Given the description of an element on the screen output the (x, y) to click on. 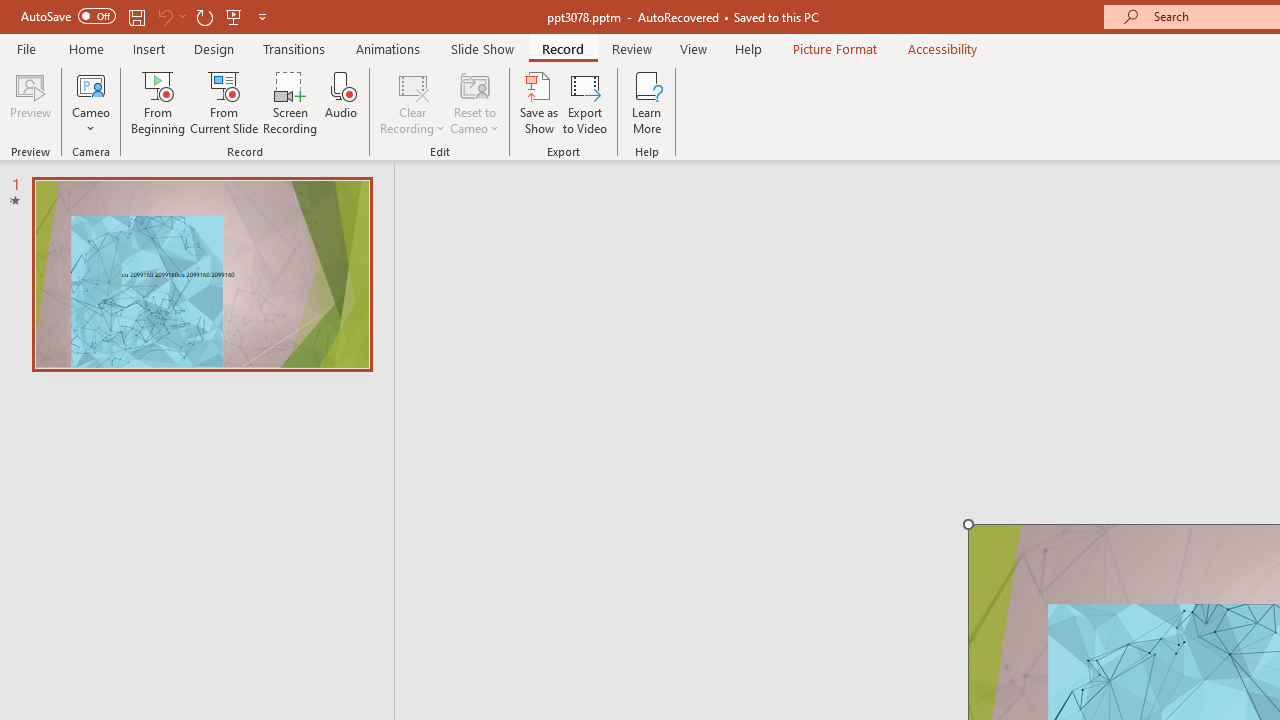
From Current Slide... (224, 102)
Reset to Cameo (474, 102)
Learn More (646, 102)
Save as Show (539, 102)
Clear Recording (412, 102)
